Given the description of an element on the screen output the (x, y) to click on. 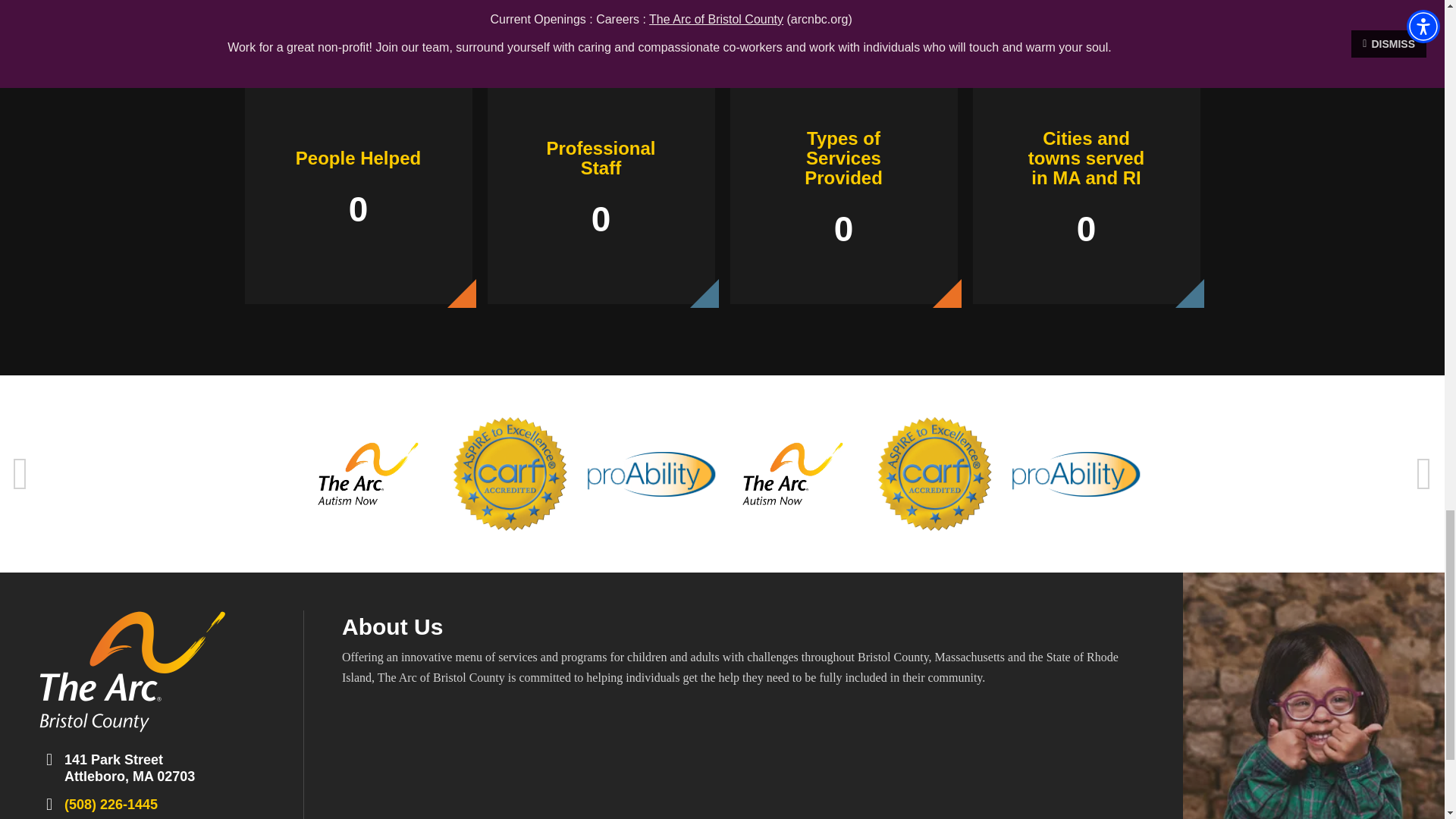
logo (132, 671)
